Given the description of an element on the screen output the (x, y) to click on. 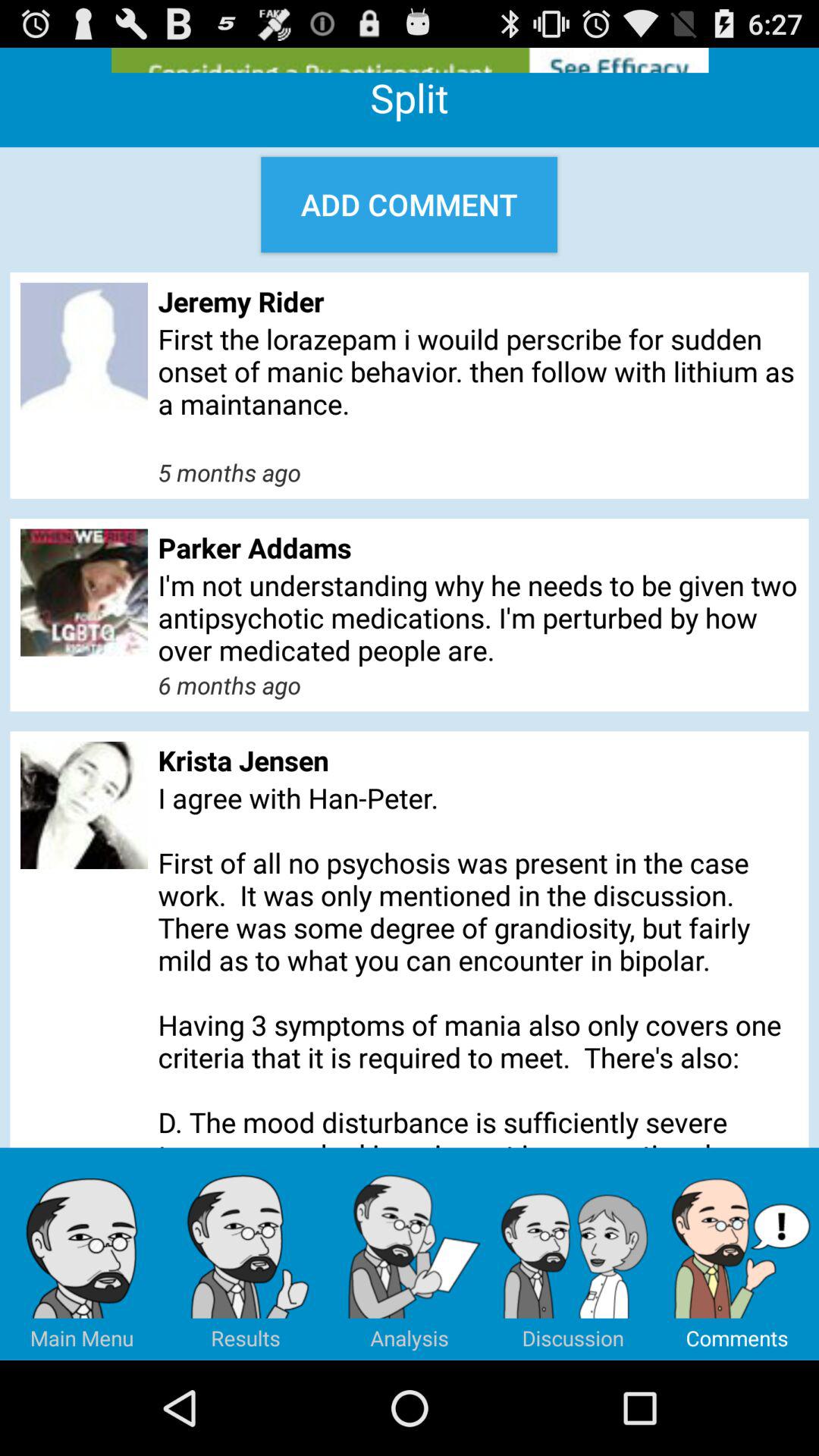
turn off app below i agree with app (409, 1253)
